Given the description of an element on the screen output the (x, y) to click on. 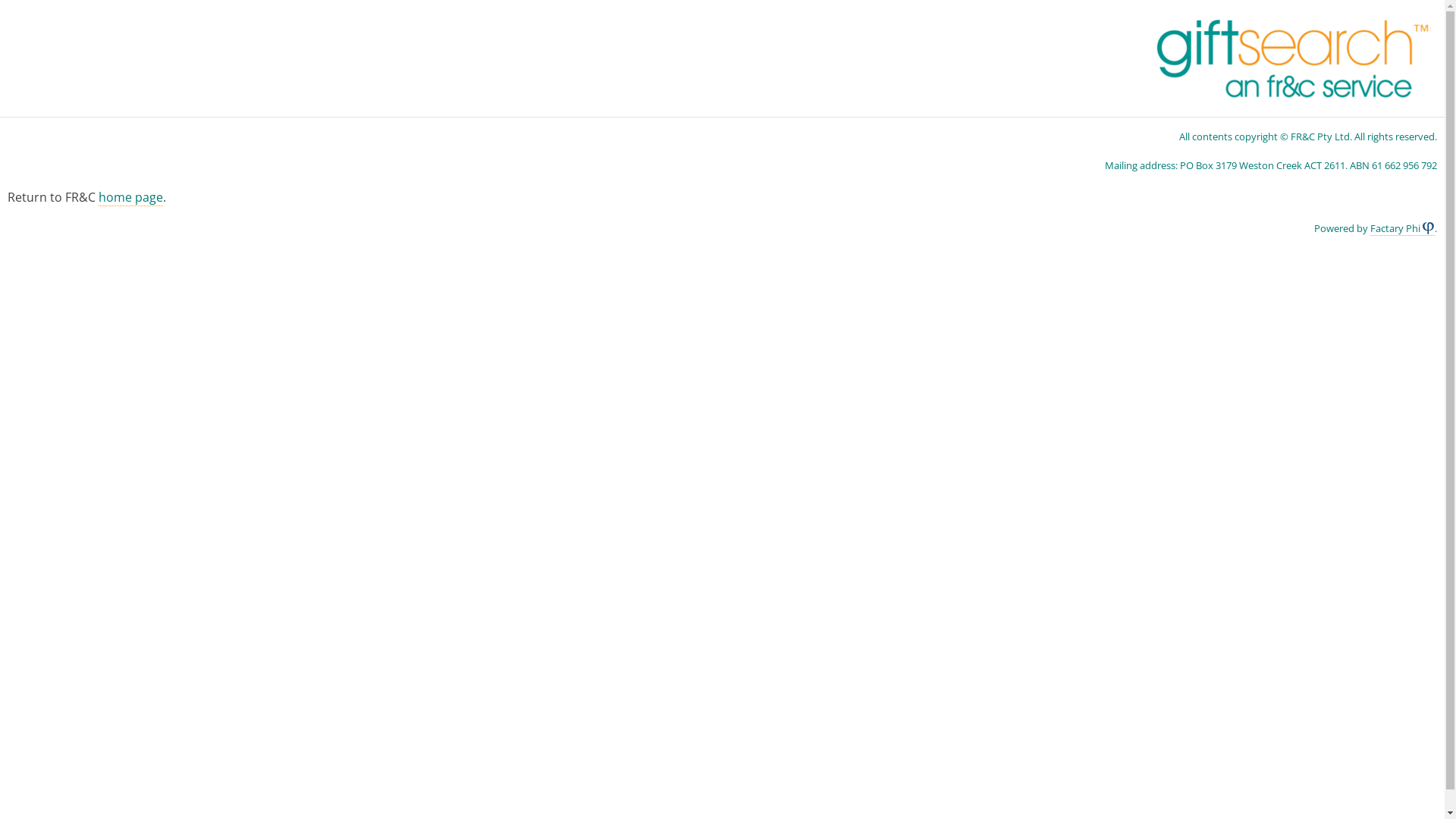
Factary Phi Element type: text (1402, 228)
home page Element type: text (130, 197)
